Given the description of an element on the screen output the (x, y) to click on. 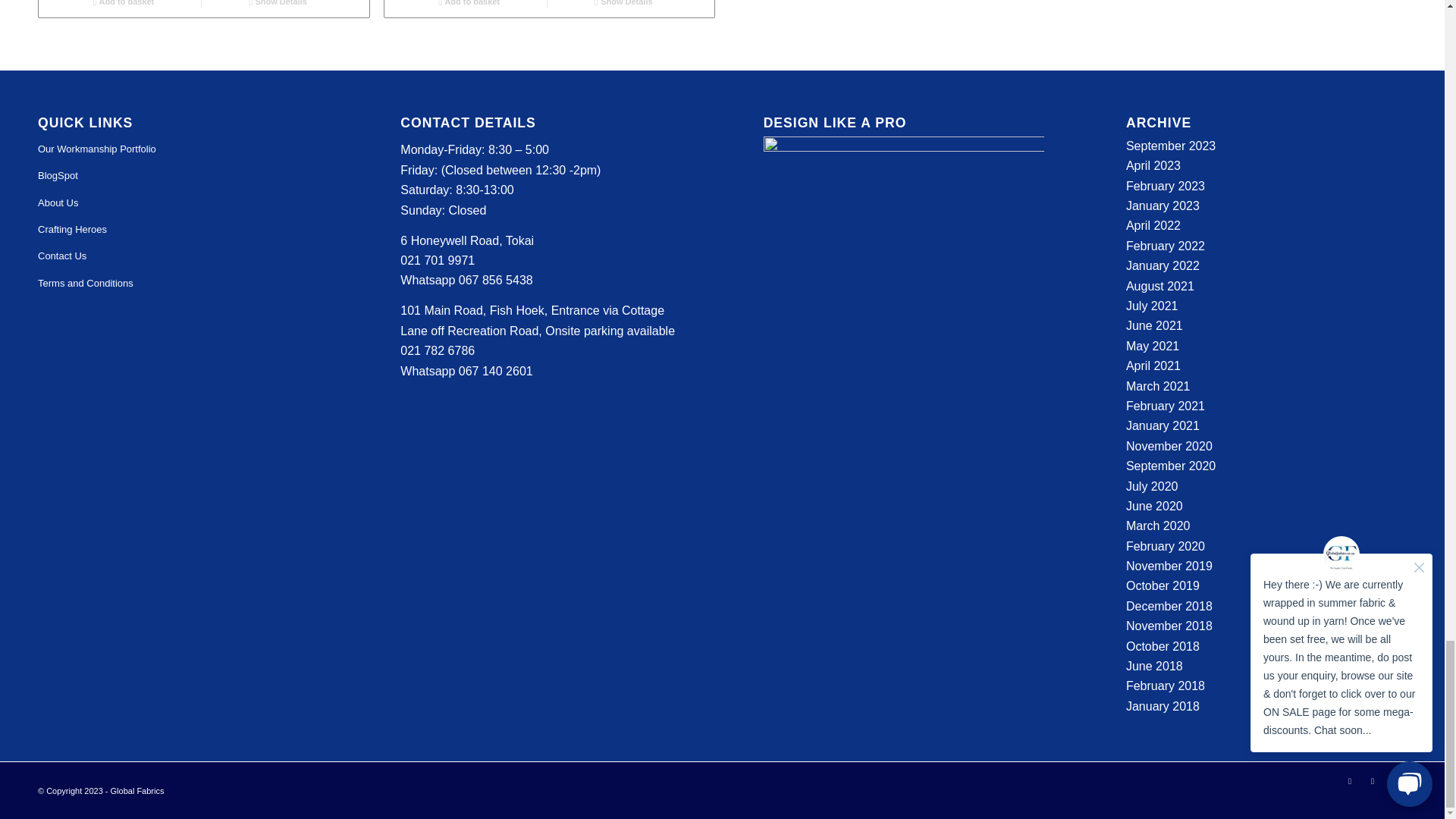
Facebook (1372, 780)
Instagram (1395, 780)
Design Like a Pro (902, 276)
Twitter (1349, 780)
